Given the description of an element on the screen output the (x, y) to click on. 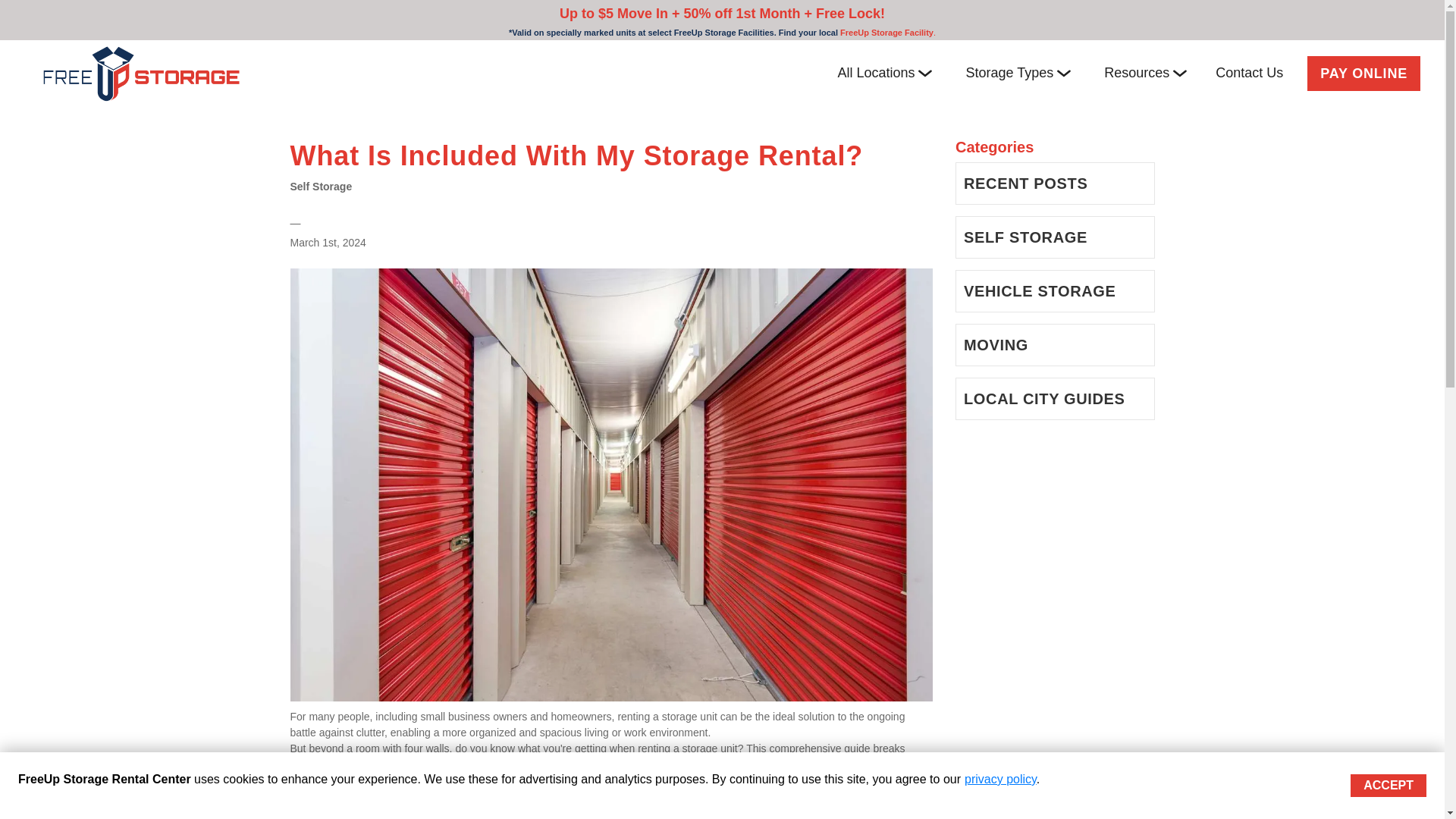
All Locationsgroup (884, 72)
Storage Typesgroup (1017, 72)
privacy policy (999, 779)
FreeUp Storage Logo (141, 73)
group (924, 73)
VEHICLE STORAGE (1055, 290)
SELF STORAGE (1055, 237)
ACCEPT (1388, 784)
group (1063, 73)
Self Storage (320, 186)
